Given the description of an element on the screen output the (x, y) to click on. 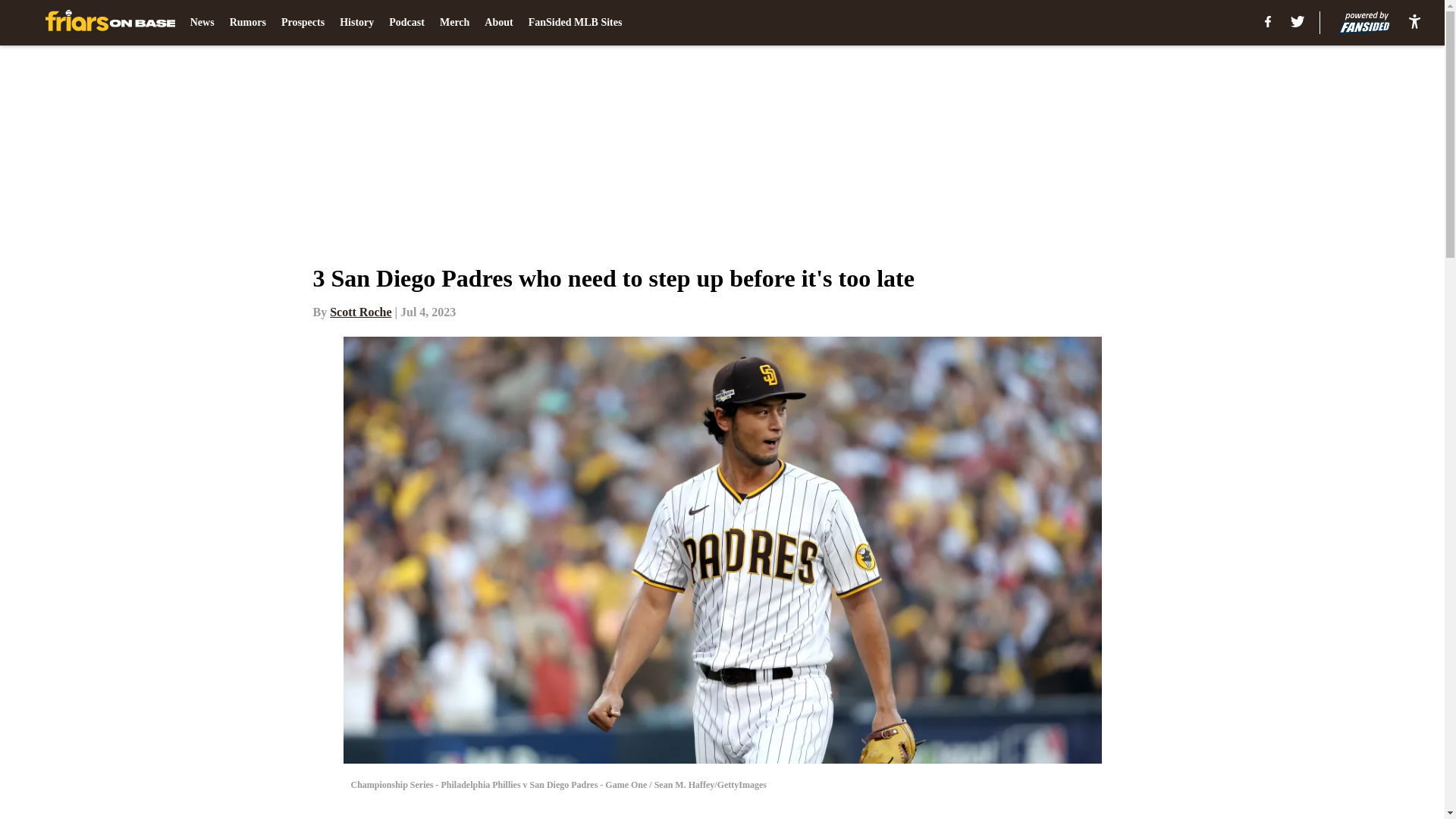
Scott Roche (360, 311)
Prospects (302, 22)
History (356, 22)
FanSided MLB Sites (575, 22)
Podcast (406, 22)
About (498, 22)
News (202, 22)
Merch (453, 22)
Rumors (248, 22)
